Given the description of an element on the screen output the (x, y) to click on. 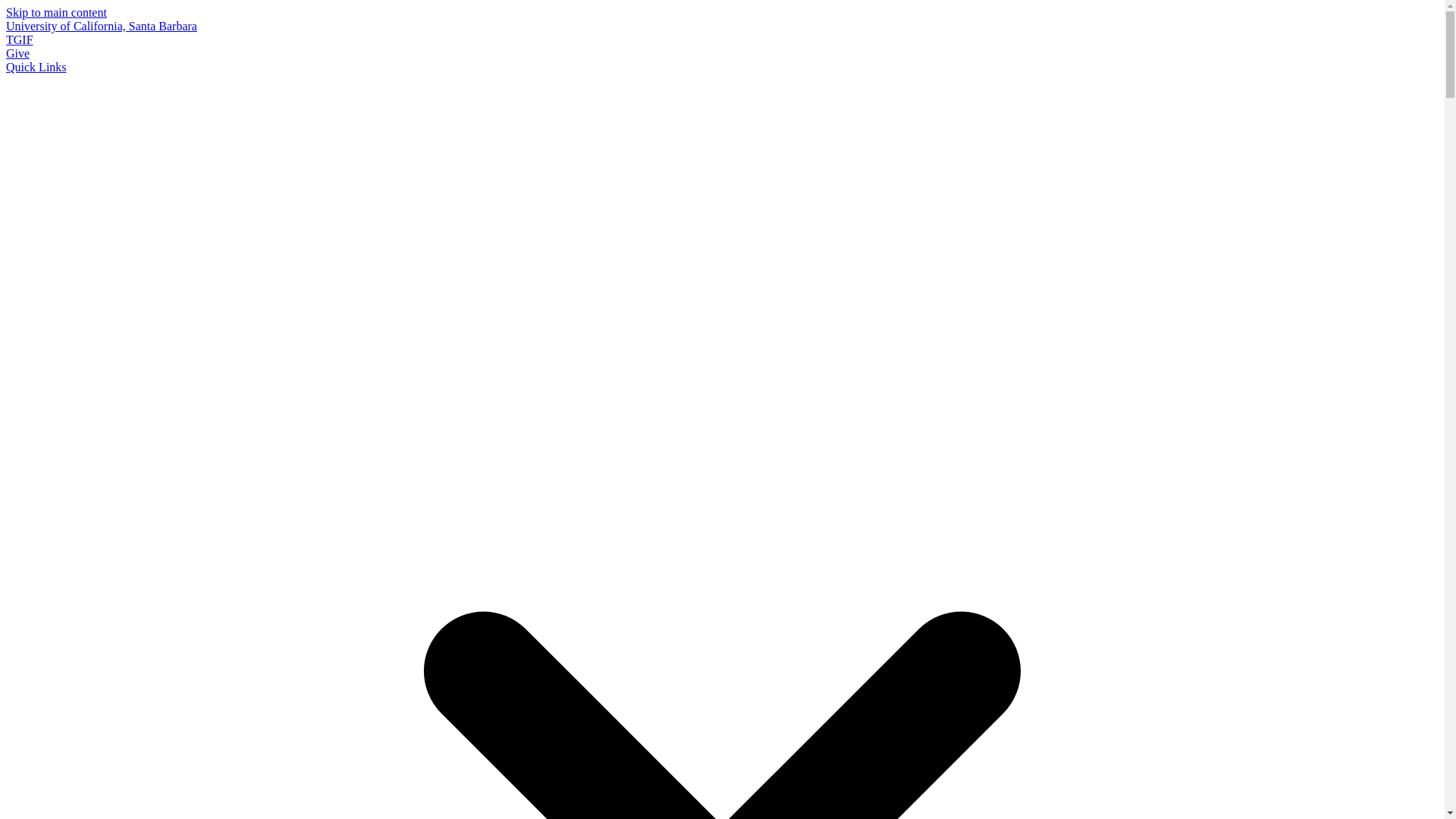
University of California, Santa Barbara (100, 25)
TGIF (19, 39)
Quick Links (35, 66)
Give (17, 52)
Skip to main content (55, 11)
